Given the description of an element on the screen output the (x, y) to click on. 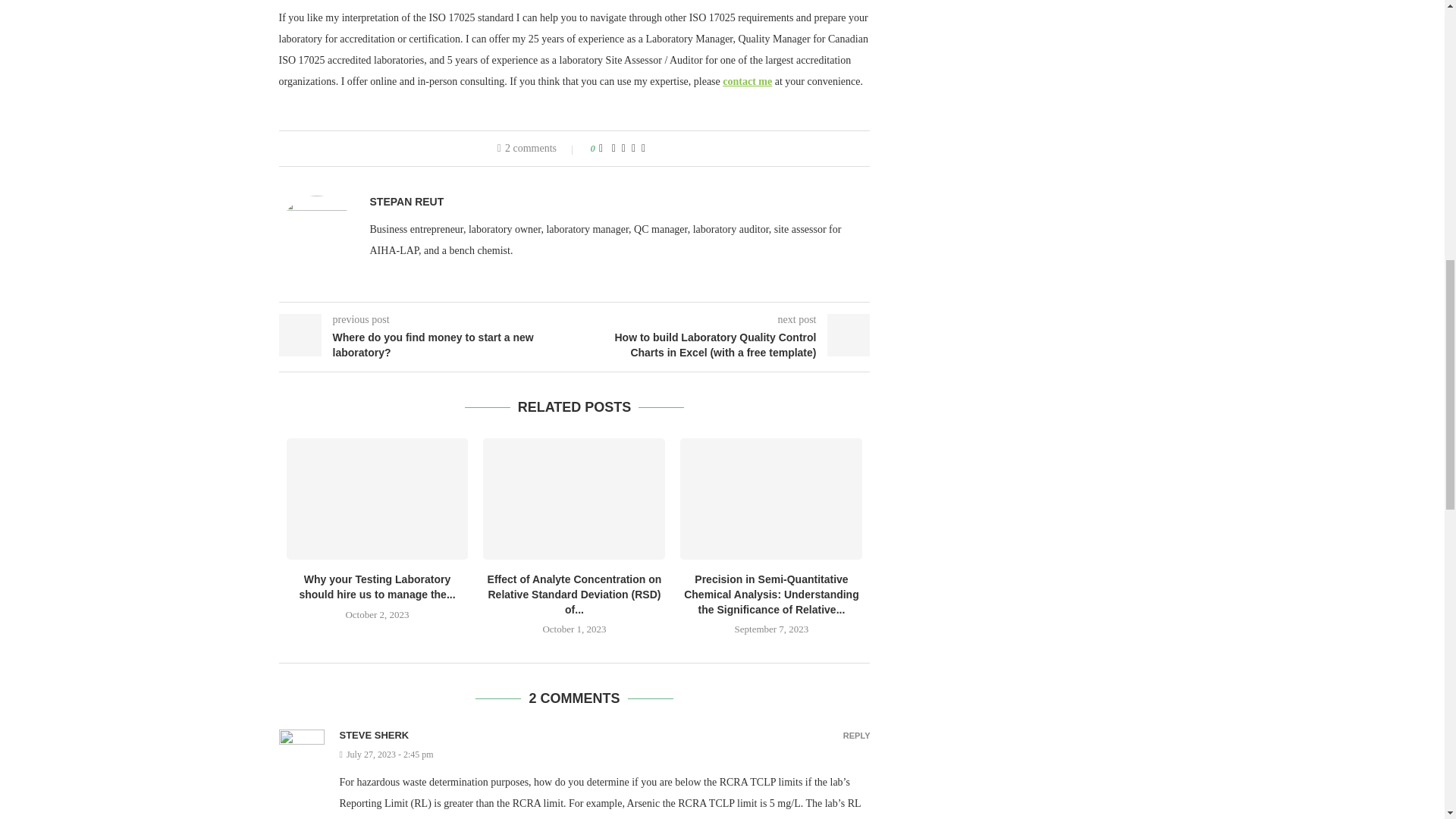
Thursday, July 27, 2023, 2:45 pm (604, 754)
contact me (746, 81)
Author Stepan Reut (406, 201)
